Given the description of an element on the screen output the (x, y) to click on. 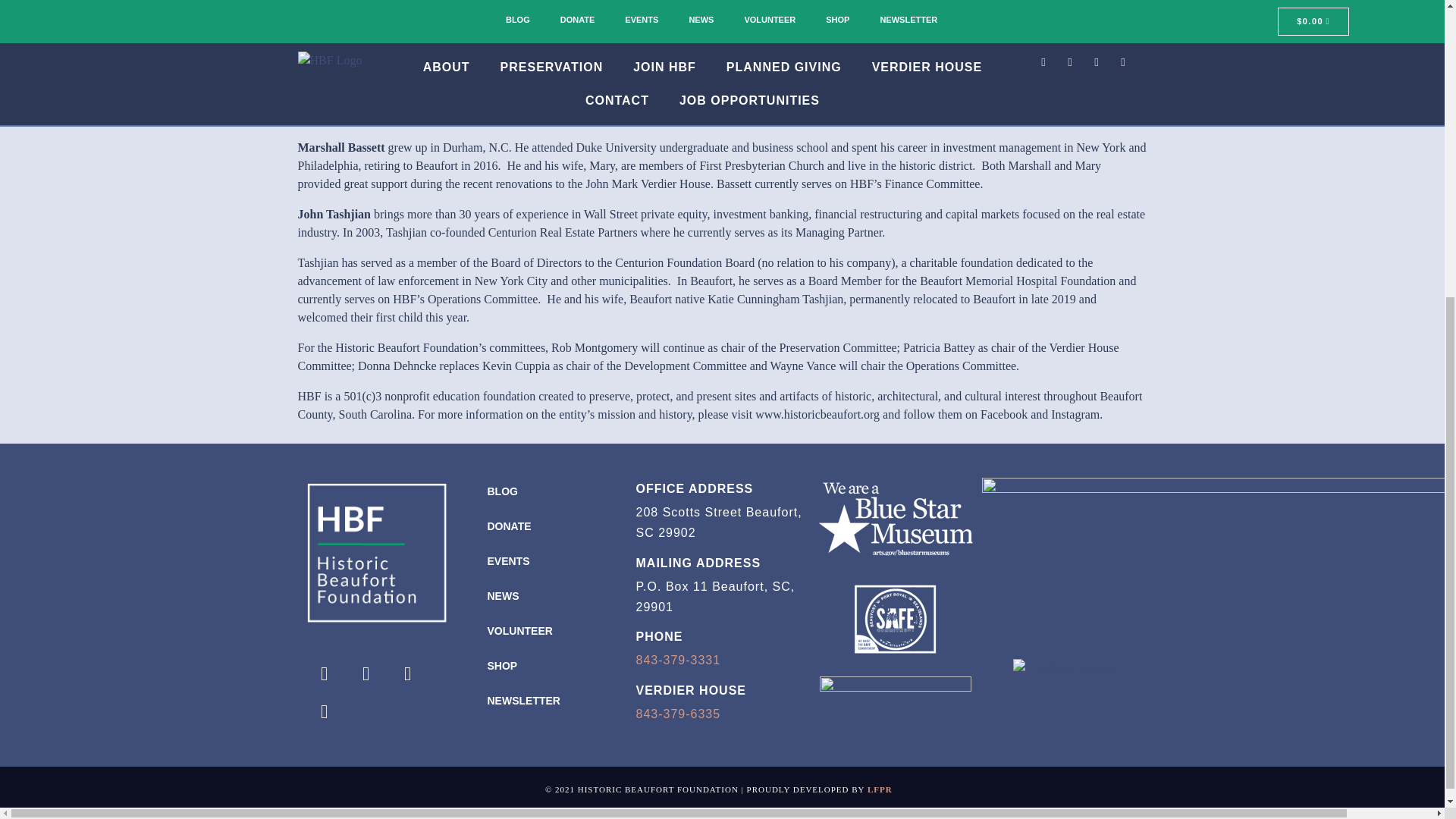
City-Seal-Greyscale (1068, 668)
